Given the description of an element on the screen output the (x, y) to click on. 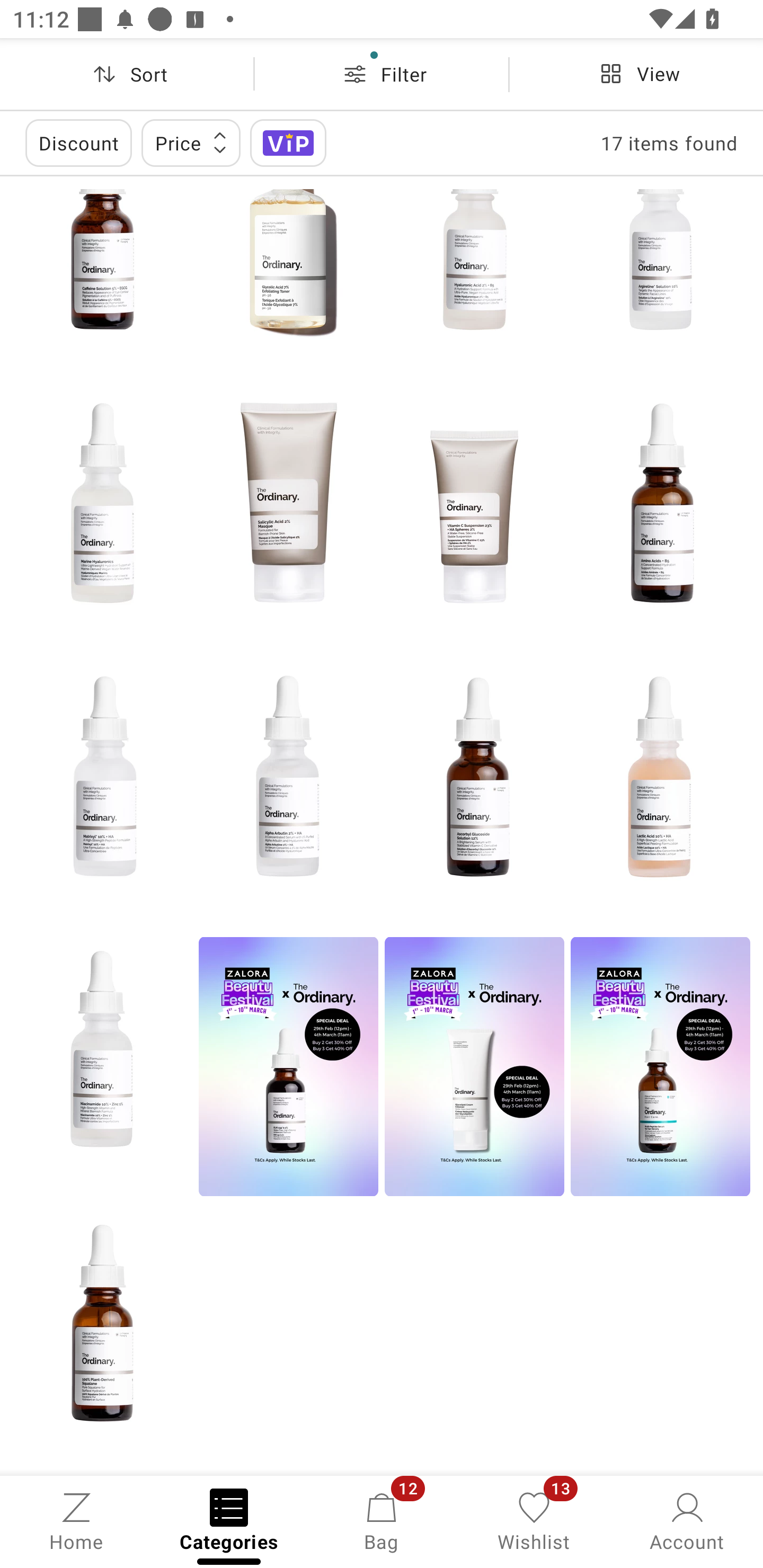
Sort (126, 73)
Filter (381, 73)
View (636, 73)
Discount (78, 142)
Price (190, 142)
Home (76, 1519)
Bag, 12 new notifications Bag (381, 1519)
Wishlist, 13 new notifications Wishlist (533, 1519)
Account (686, 1519)
